Given the description of an element on the screen output the (x, y) to click on. 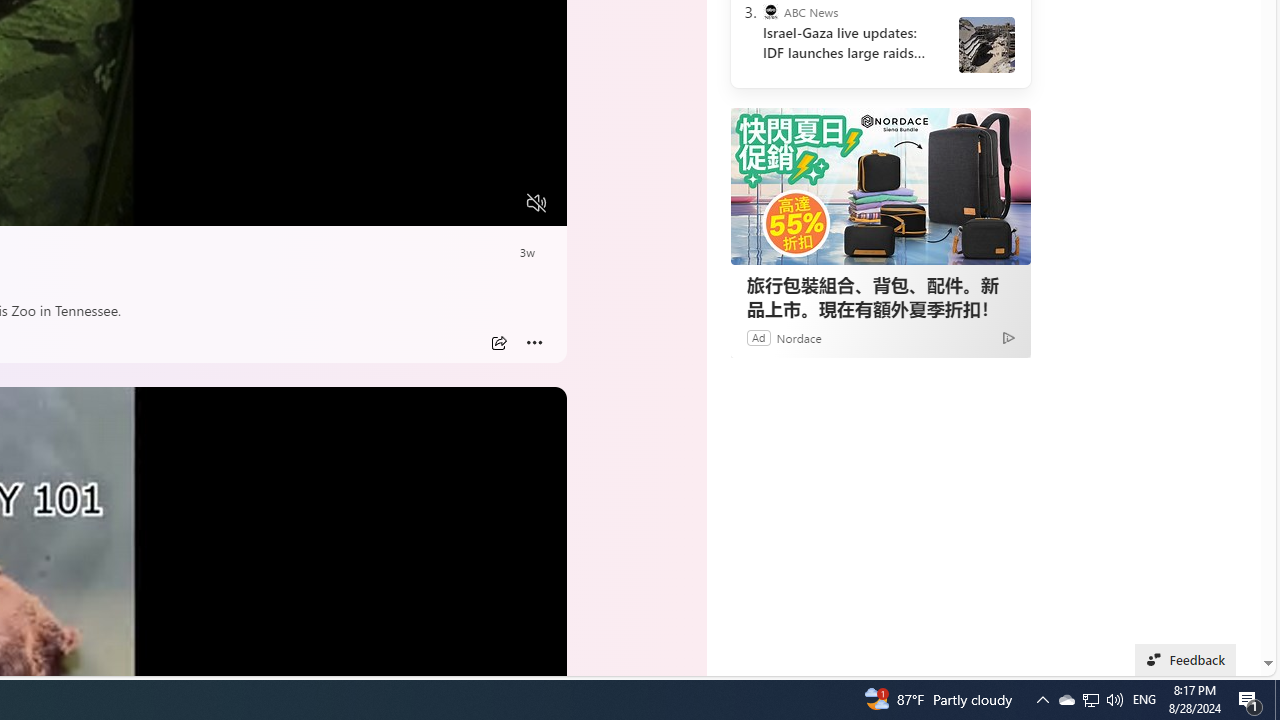
Fullscreen (497, 203)
Captions (457, 203)
ABC News (770, 12)
Share (498, 343)
Share (498, 343)
Quality Settings (418, 203)
